Given the description of an element on the screen output the (x, y) to click on. 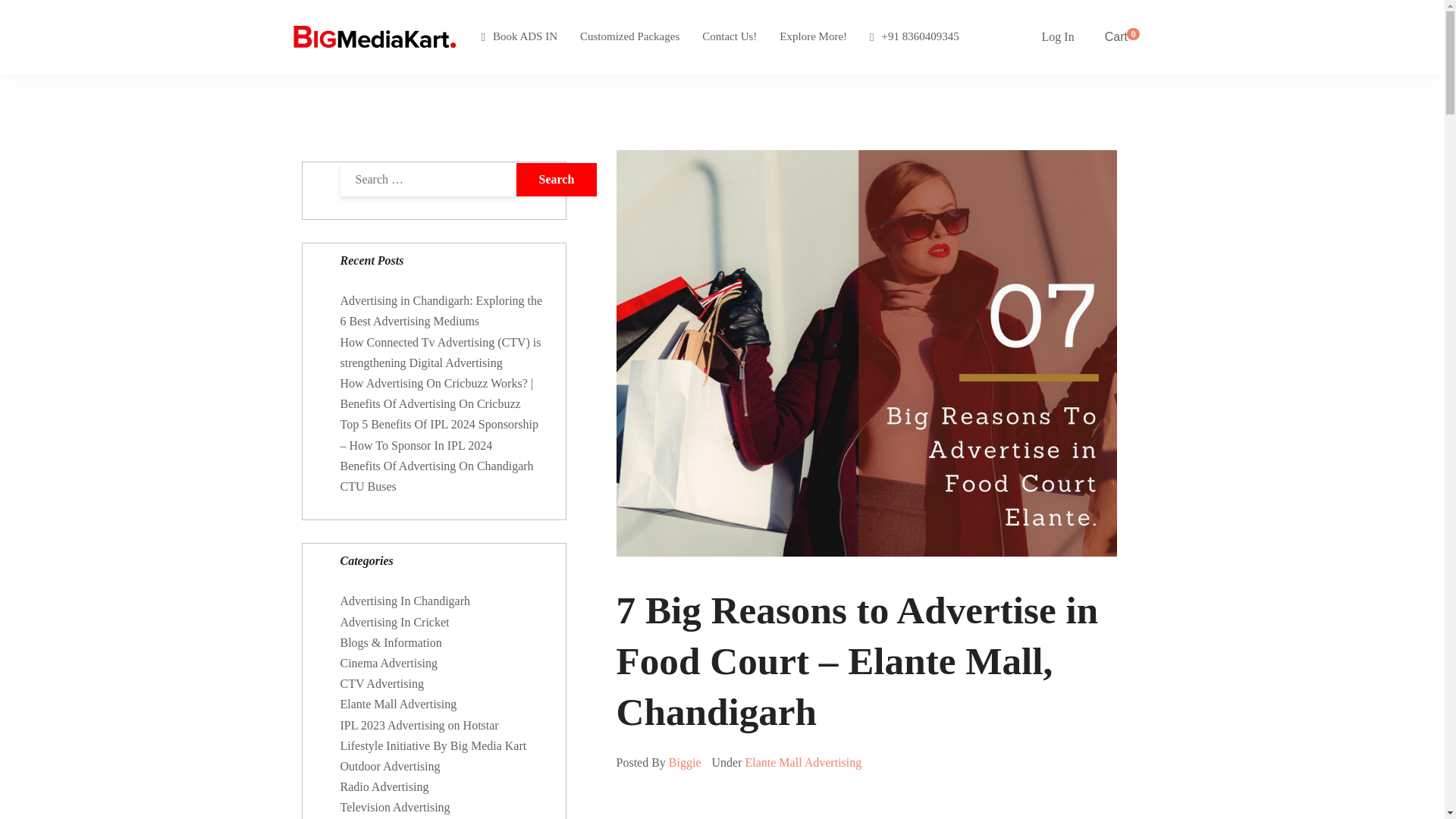
Cart 0 (1122, 36)
Big Media Kart (373, 36)
Biggie (684, 762)
Search (555, 179)
Book ADS IN (519, 37)
Elante Mall Advertising (802, 762)
Customized Packages (629, 37)
Log In (1058, 36)
Explore More! (813, 37)
Biggie (684, 762)
Contact Us! (729, 37)
